Given the description of an element on the screen output the (x, y) to click on. 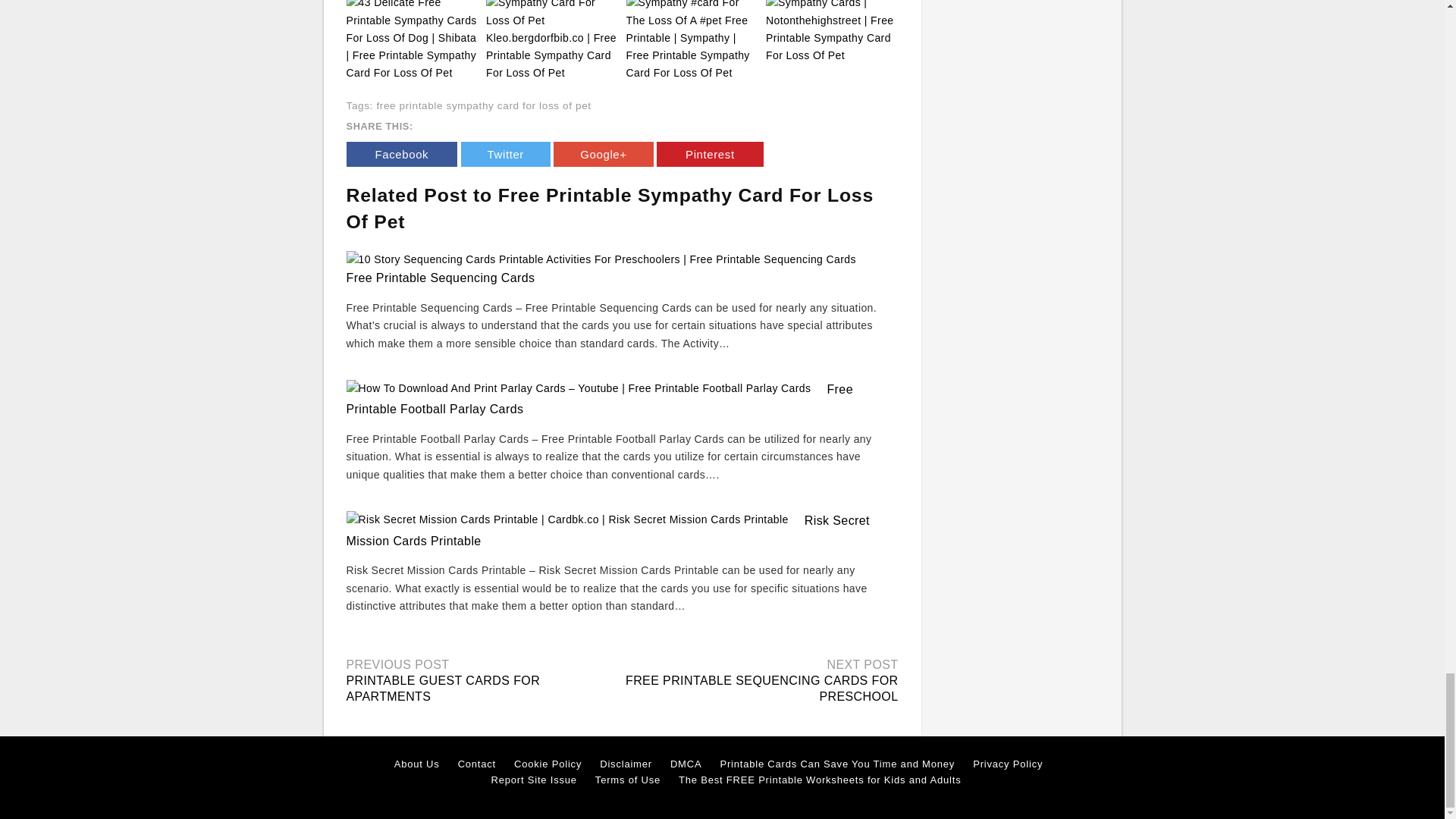
free printable sympathy card for loss of pet (483, 105)
Pinterest (709, 154)
FREE PRINTABLE SEQUENCING CARDS FOR PRESCHOOL (762, 688)
PRINTABLE GUEST CARDS FOR APARTMENTS (443, 688)
Facebook (401, 154)
Free Printable Sequencing Cards (440, 277)
Risk Secret Mission Cards Printable (607, 530)
Free Printable Football Parlay Cards (598, 399)
Twitter (505, 154)
